Given the description of an element on the screen output the (x, y) to click on. 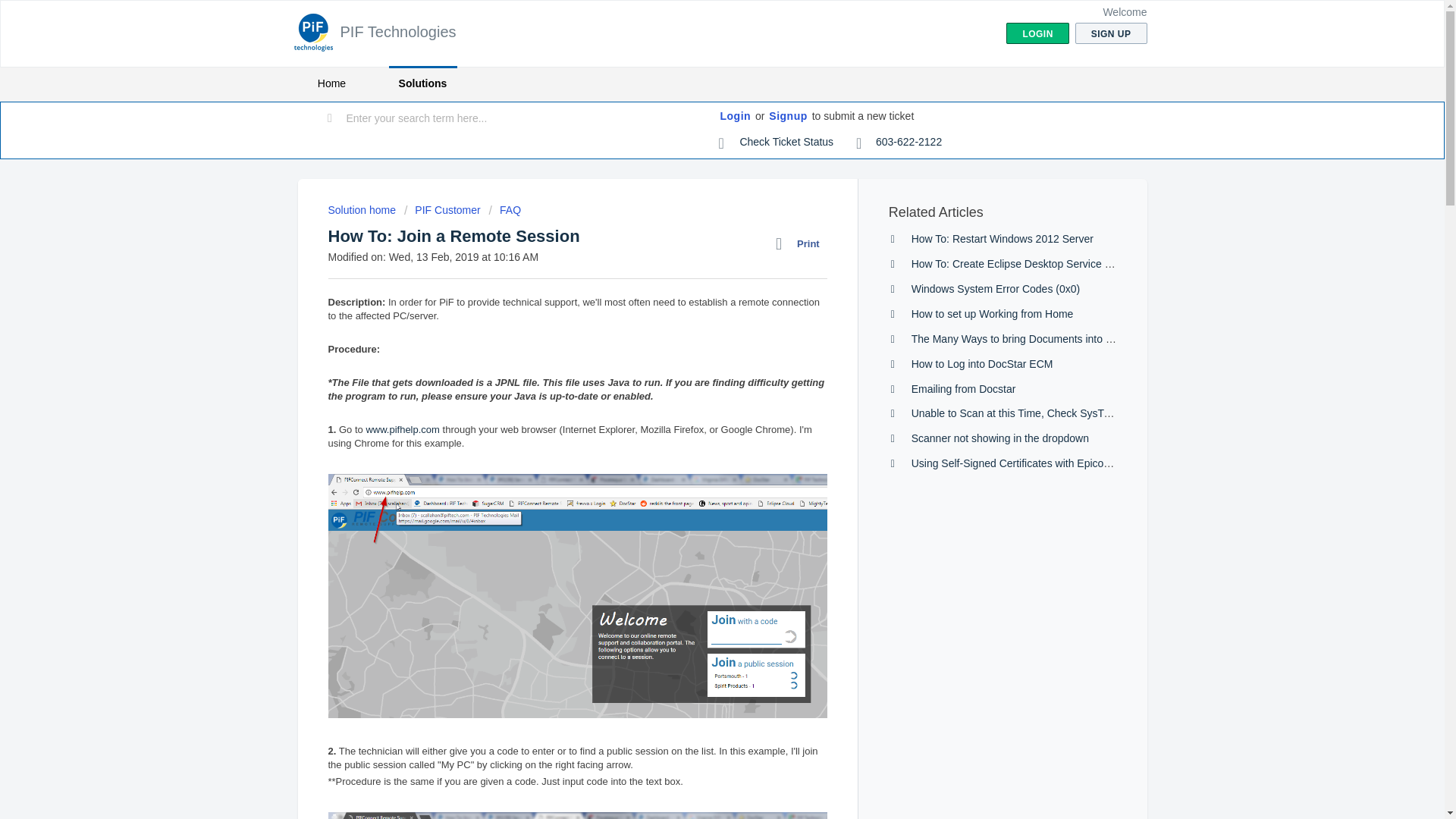
SIGN UP (1111, 33)
PIF Customer (442, 209)
Print (801, 243)
Print this Article (801, 243)
How to Log into DocStar ECM (981, 363)
Solutions (422, 83)
Scanner not showing in the dropdown (1000, 438)
Check Ticket Status (776, 142)
How To: Restart Windows 2012 Server (1002, 238)
How To: Create Eclipse Desktop Service Mode (1021, 263)
Login (735, 116)
How to set up Working from Home (992, 313)
Home (331, 83)
Solution home (362, 209)
LOGIN (1037, 33)
